Given the description of an element on the screen output the (x, y) to click on. 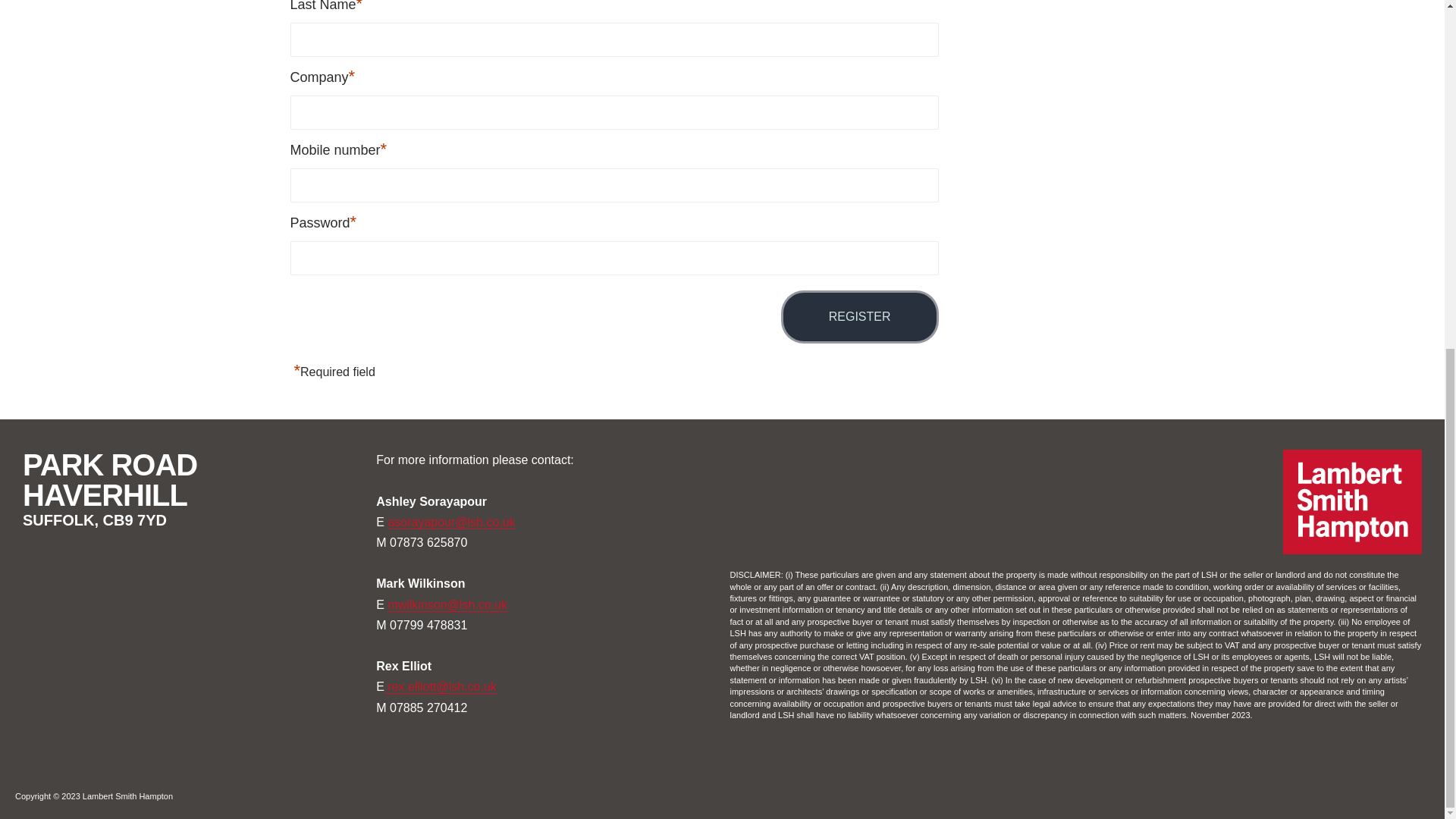
logo (1352, 501)
Register (859, 316)
Register (859, 316)
